Given the description of an element on the screen output the (x, y) to click on. 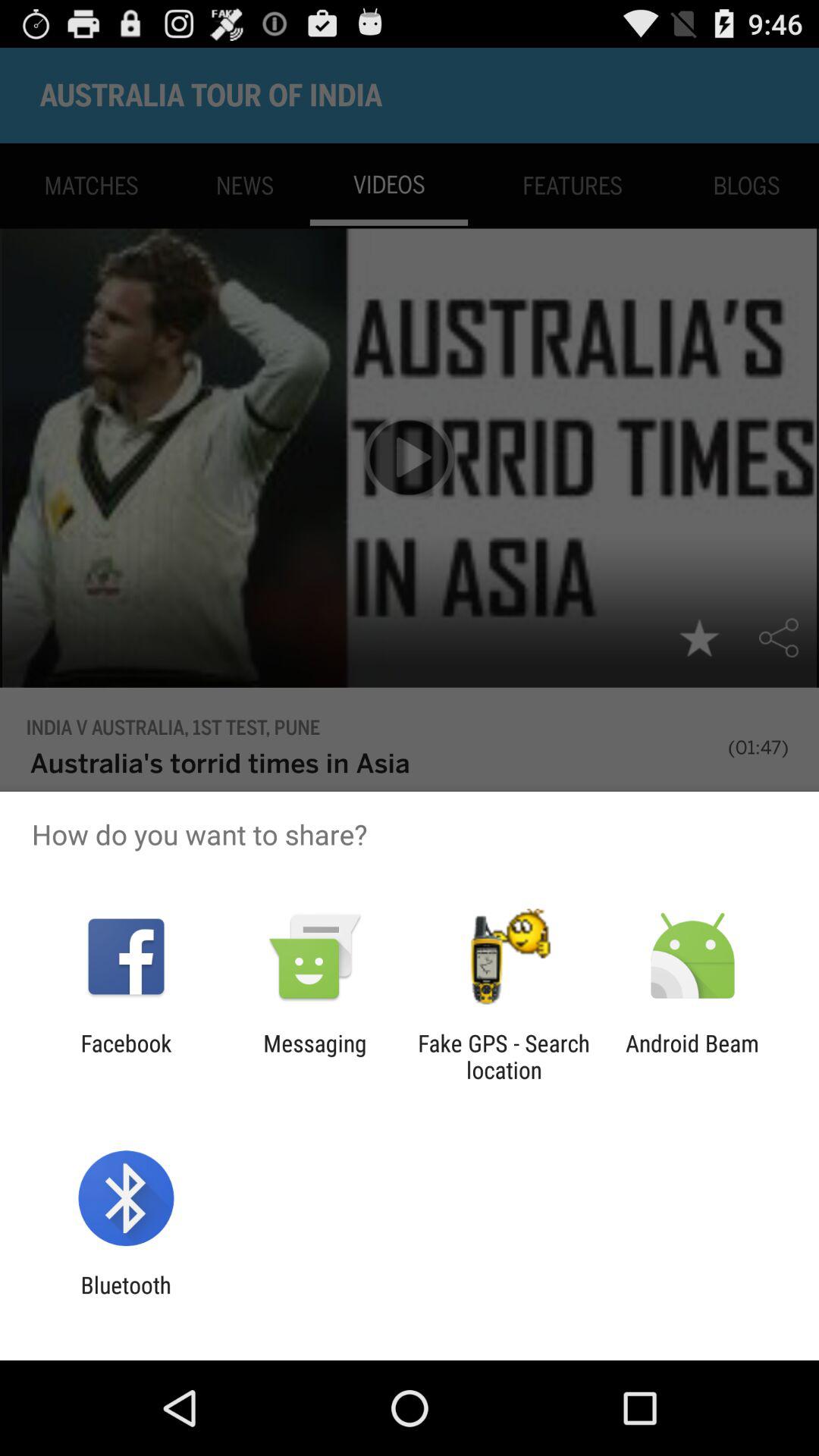
click item next to fake gps search icon (692, 1056)
